Given the description of an element on the screen output the (x, y) to click on. 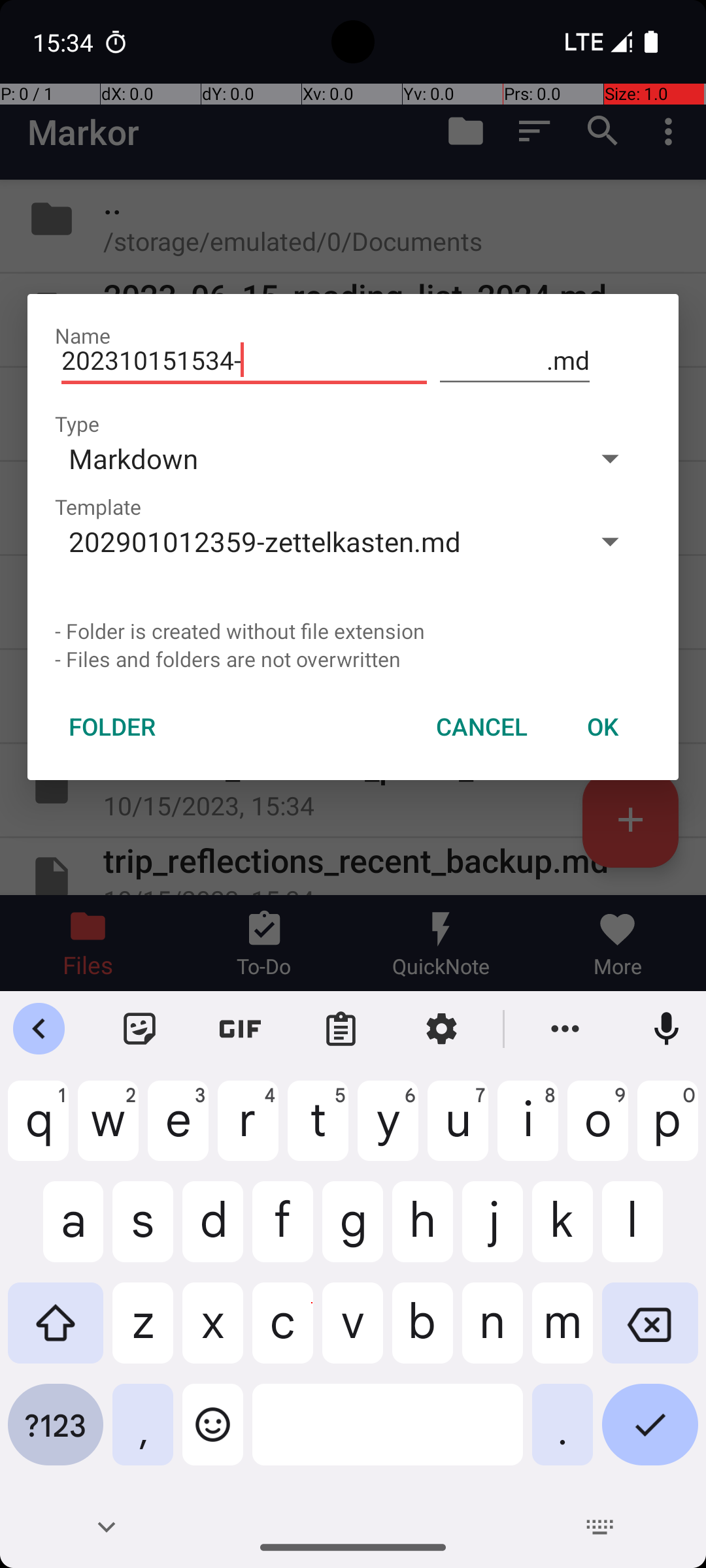
202310151534- Element type: android.widget.EditText (243, 360)
202901012359-zettelkasten.md Element type: android.widget.TextView (311, 540)
